Given the description of an element on the screen output the (x, y) to click on. 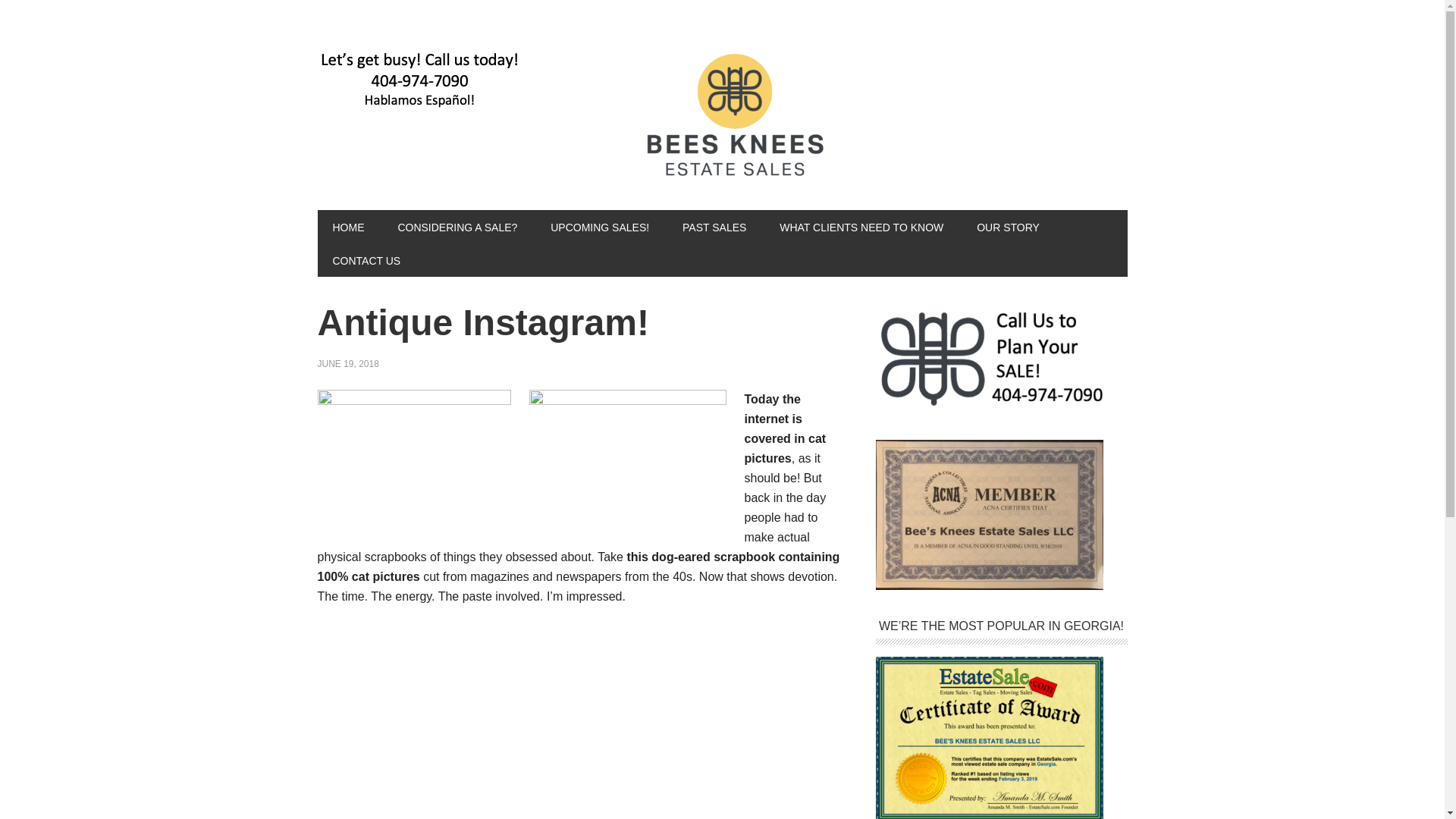
UPCOMING SALES! (599, 226)
CONSIDERING A SALE? (456, 226)
PAST SALES (713, 226)
WHAT CLIENTS NEED TO KNOW (861, 226)
HOME (347, 226)
CONTACT US (365, 259)
OUR STORY (1007, 226)
